Given the description of an element on the screen output the (x, y) to click on. 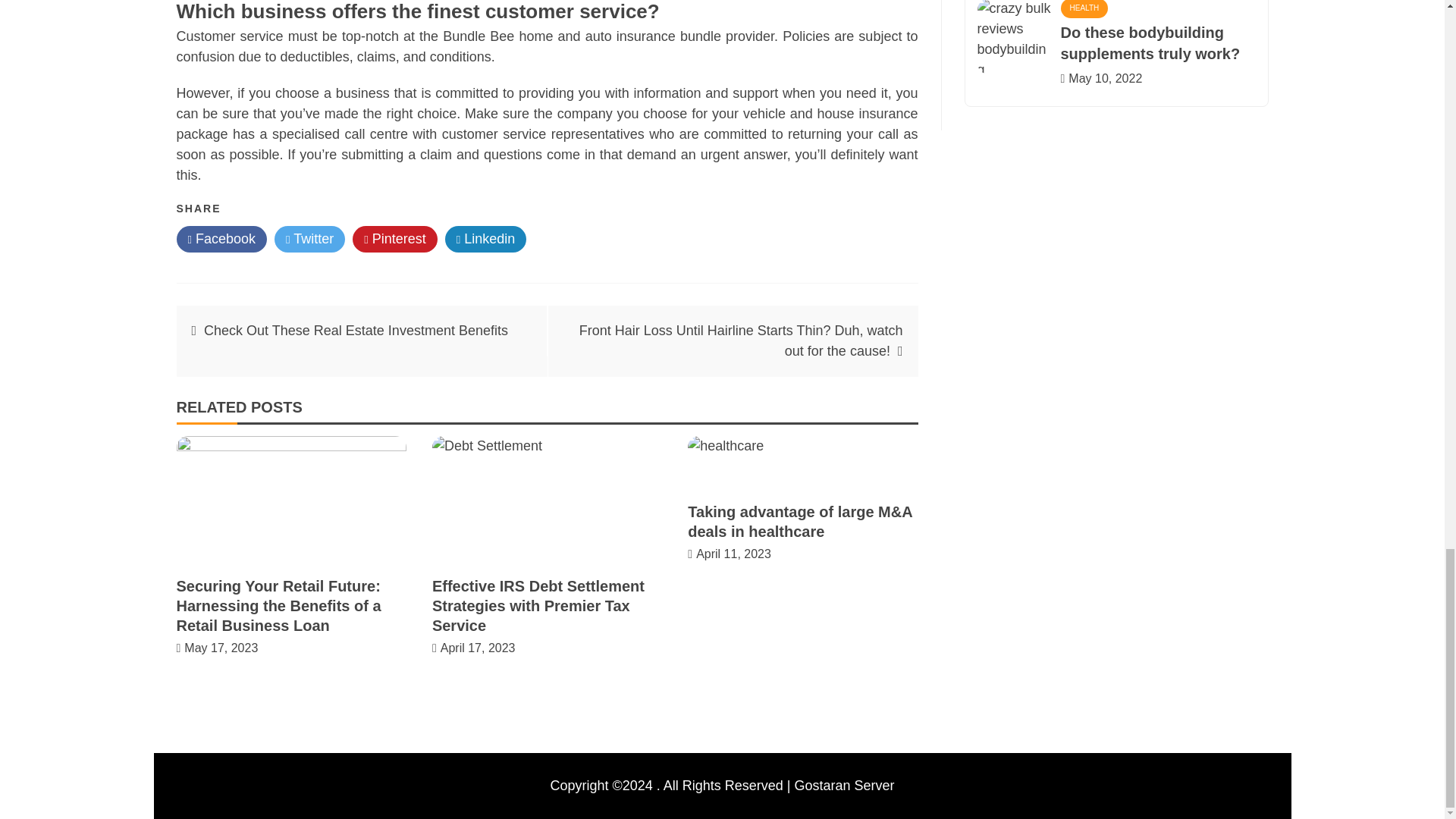
May 17, 2023 (220, 647)
Pinterest (395, 239)
Twitter (310, 239)
Linkedin (486, 239)
April 11, 2023 (733, 553)
Facebook (221, 239)
April 17, 2023 (478, 647)
Check Out These Real Estate Investment Benefits (355, 330)
